Given the description of an element on the screen output the (x, y) to click on. 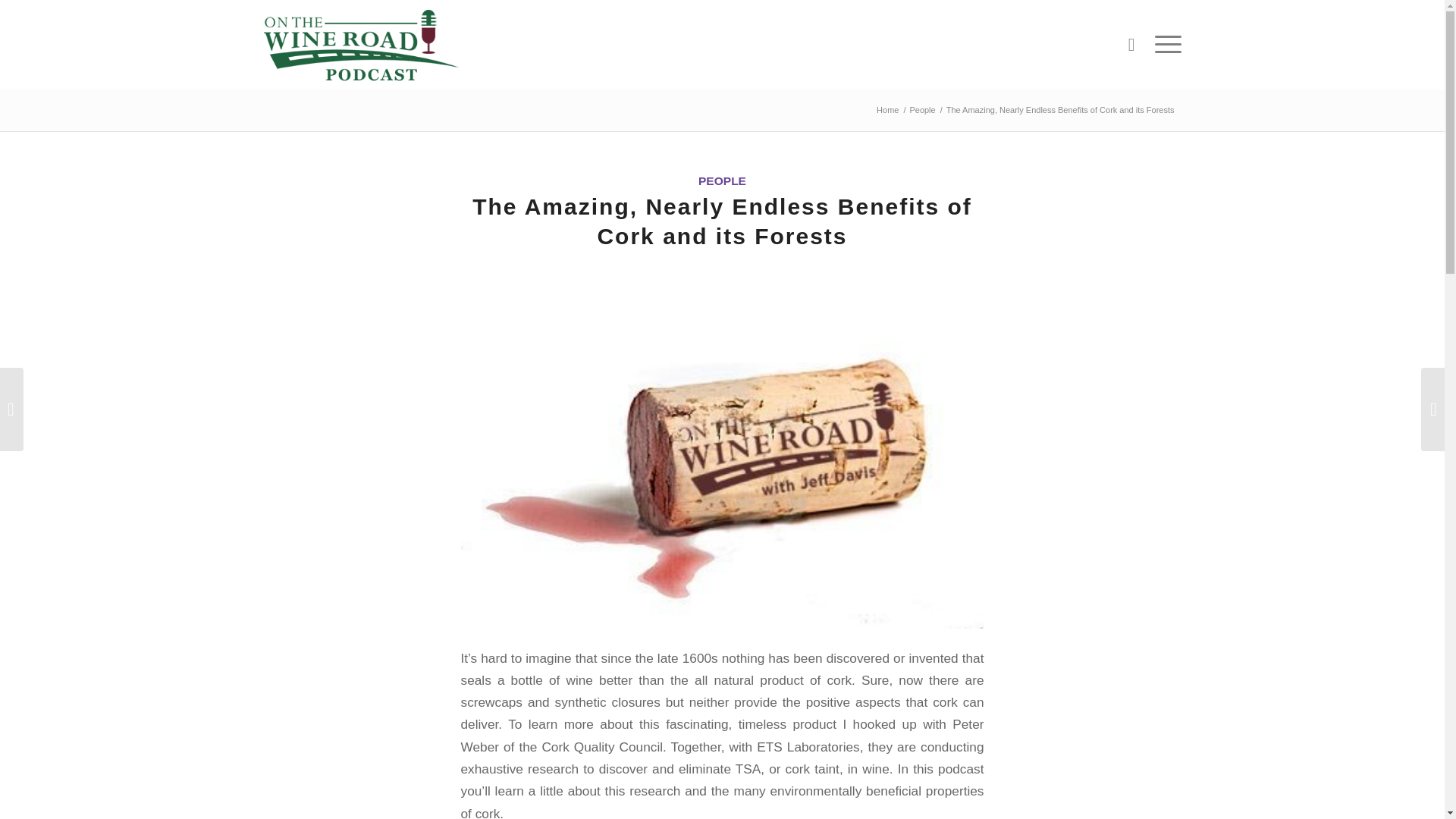
Podcast Logo for website copy (360, 44)
On The Wine Road (888, 110)
Home (888, 110)
People (922, 110)
PEOPLE (721, 180)
